Given the description of an element on the screen output the (x, y) to click on. 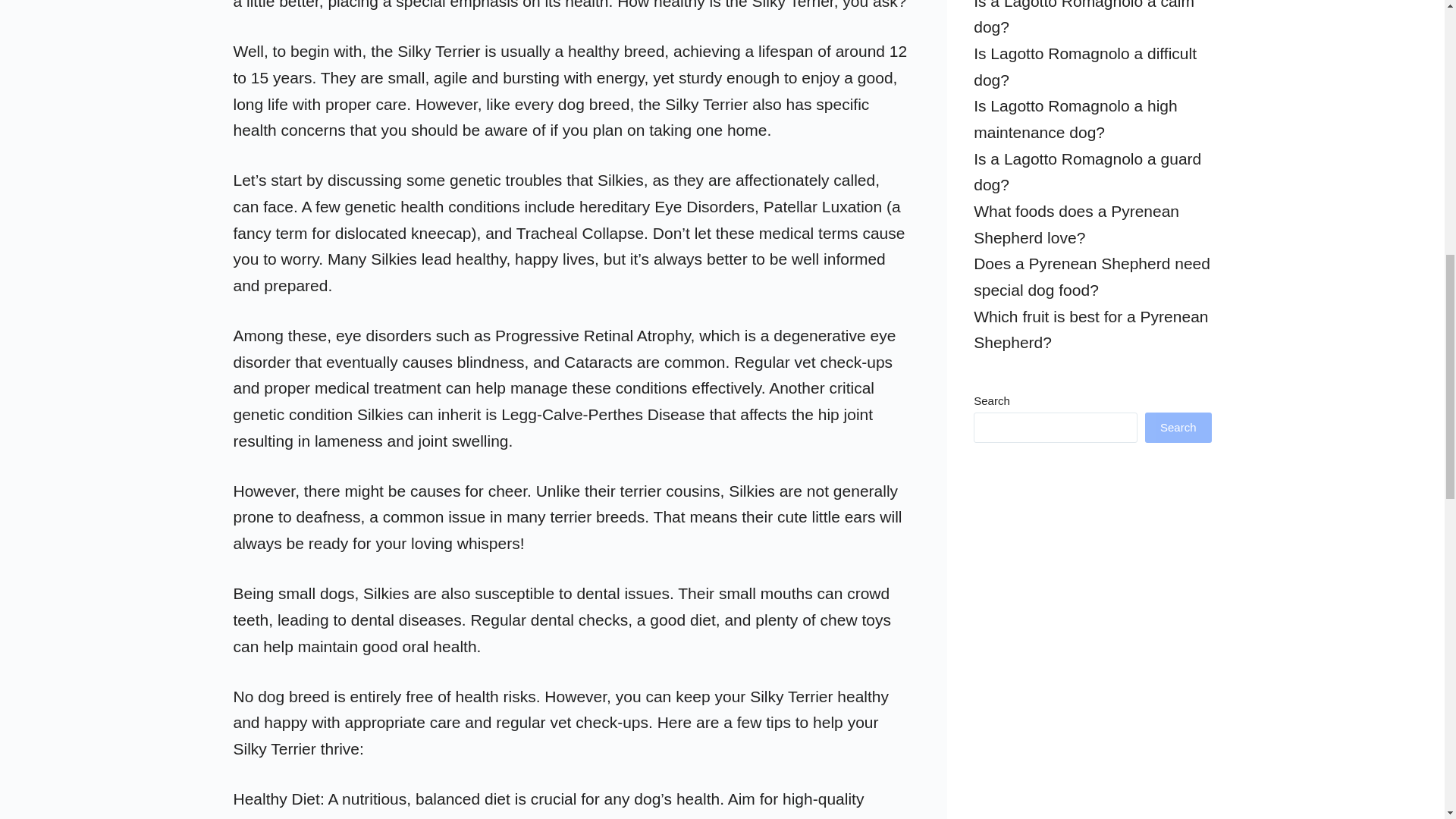
Does a Pyrenean Shepherd need special dog food? (1091, 276)
Which fruit is best for a Pyrenean Shepherd? (1091, 329)
Is a Lagotto Romagnolo a calm dog? (1083, 18)
Is a Lagotto Romagnolo a guard dog? (1087, 171)
What foods does a Pyrenean Shepherd love? (1076, 224)
Is Lagotto Romagnolo a high maintenance dog? (1075, 118)
Is Lagotto Romagnolo a difficult dog? (1085, 66)
Search (1177, 427)
